Given the description of an element on the screen output the (x, y) to click on. 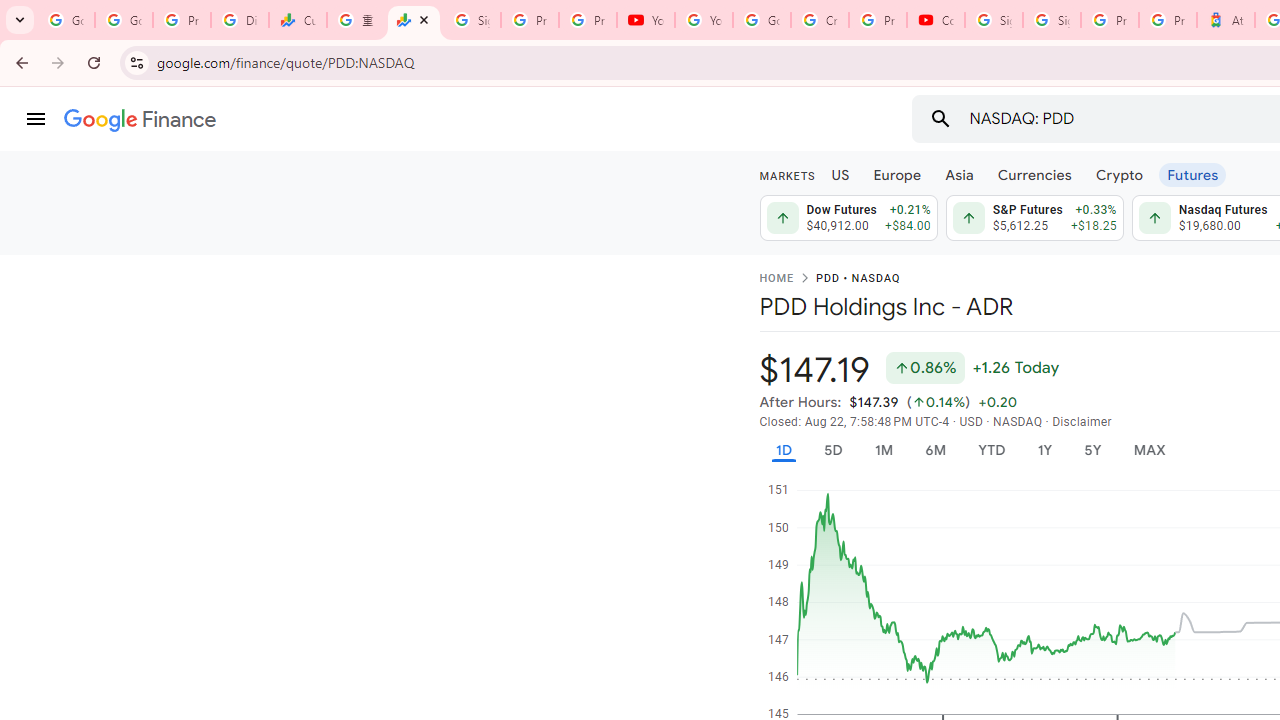
Privacy Checkup (587, 20)
HOME (776, 279)
Atour Hotel - Google hotels (1225, 20)
1D (783, 449)
Create your Google Account (819, 20)
Currencies - Google Finance (297, 20)
5Y (1092, 449)
US (840, 174)
